Given the description of an element on the screen output the (x, y) to click on. 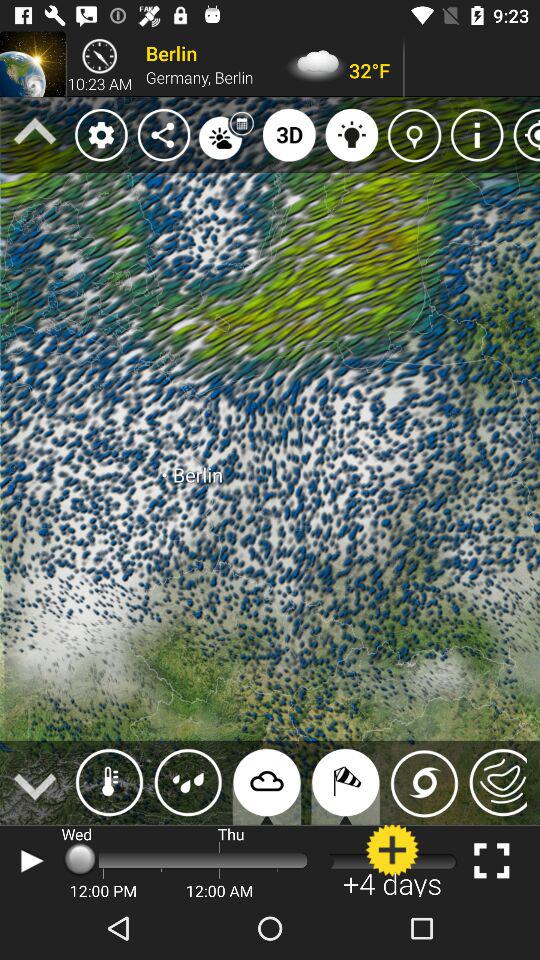
click on the icon which is above the wed at the bottom of the page (109, 782)
